Given the description of an element on the screen output the (x, y) to click on. 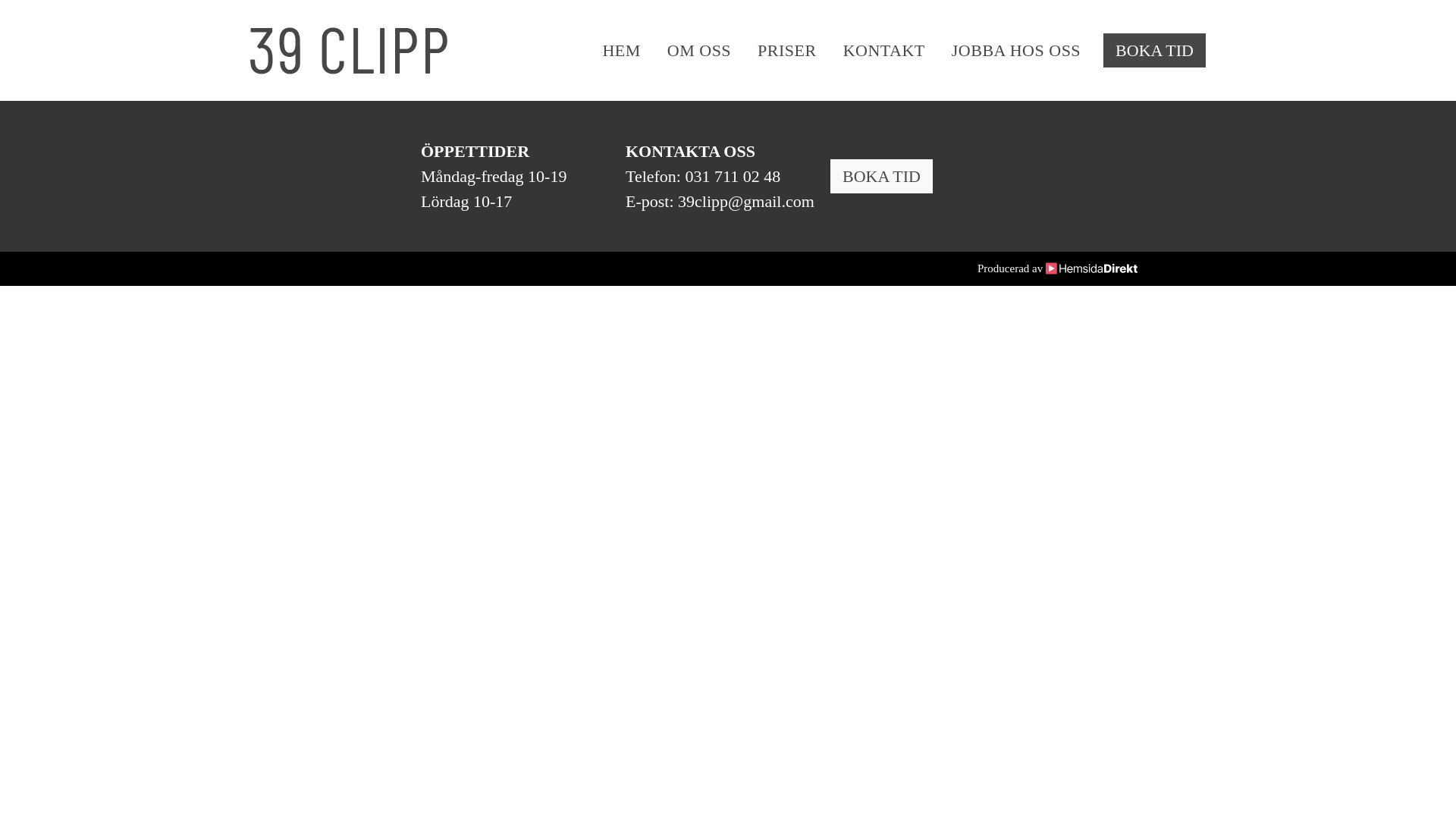
HEM Element type: text (607, 50)
39clipp@gmail.com Element type: text (745, 200)
BOKA TID Element type: text (1154, 50)
OM OSS Element type: text (685, 50)
KONTAKT Element type: text (870, 50)
BOKA TID Element type: text (881, 176)
PRISER Element type: text (773, 50)
JOBBA HOS OSS Element type: text (1002, 50)
